Given the description of an element on the screen output the (x, y) to click on. 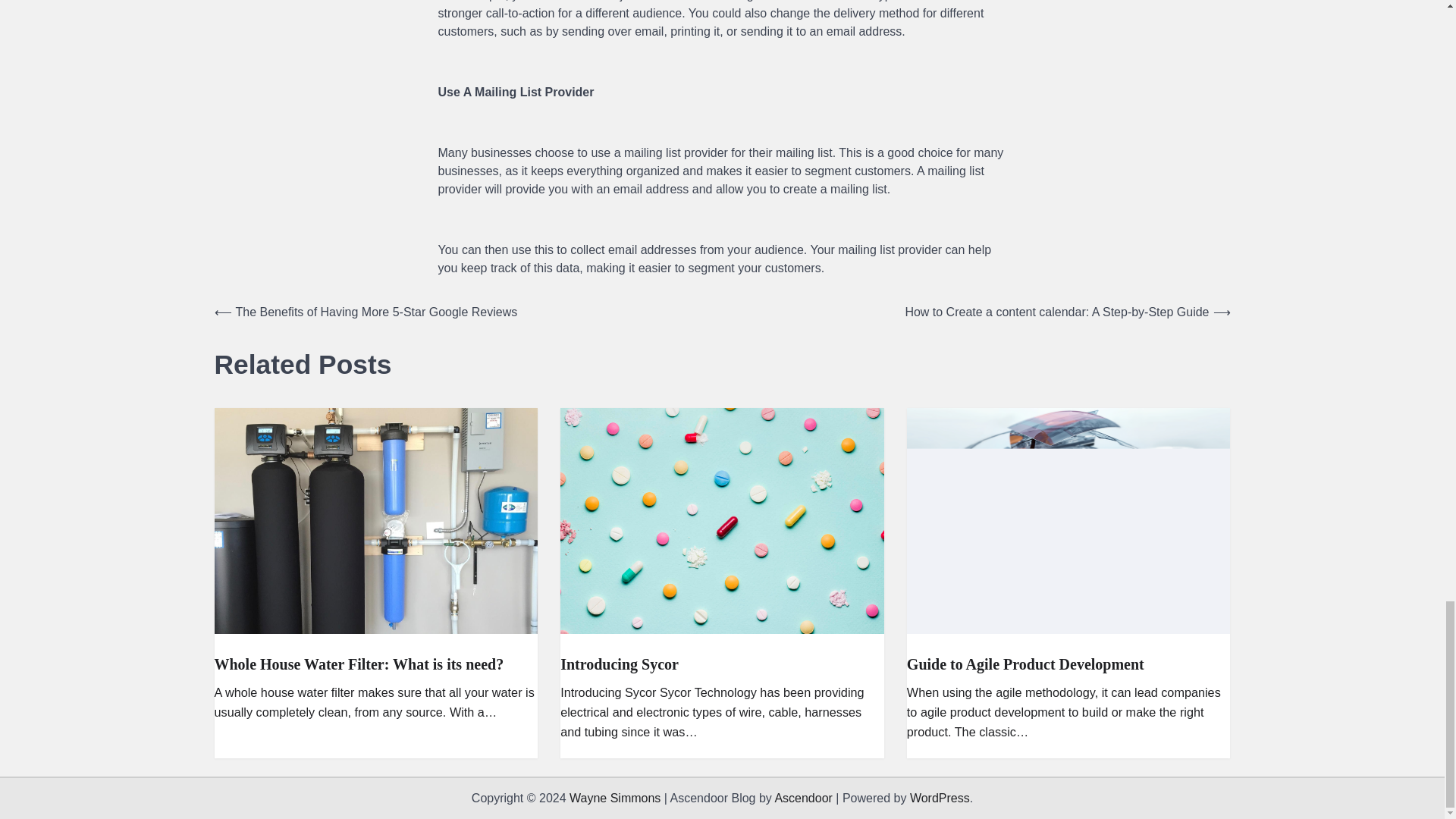
WordPress (939, 797)
Wayne Simmons (615, 797)
Ascendoor (803, 797)
Introducing Sycor (619, 664)
Guide to Agile Product Development (1025, 664)
Whole House Water Filter: What is its need? (358, 664)
